Given the description of an element on the screen output the (x, y) to click on. 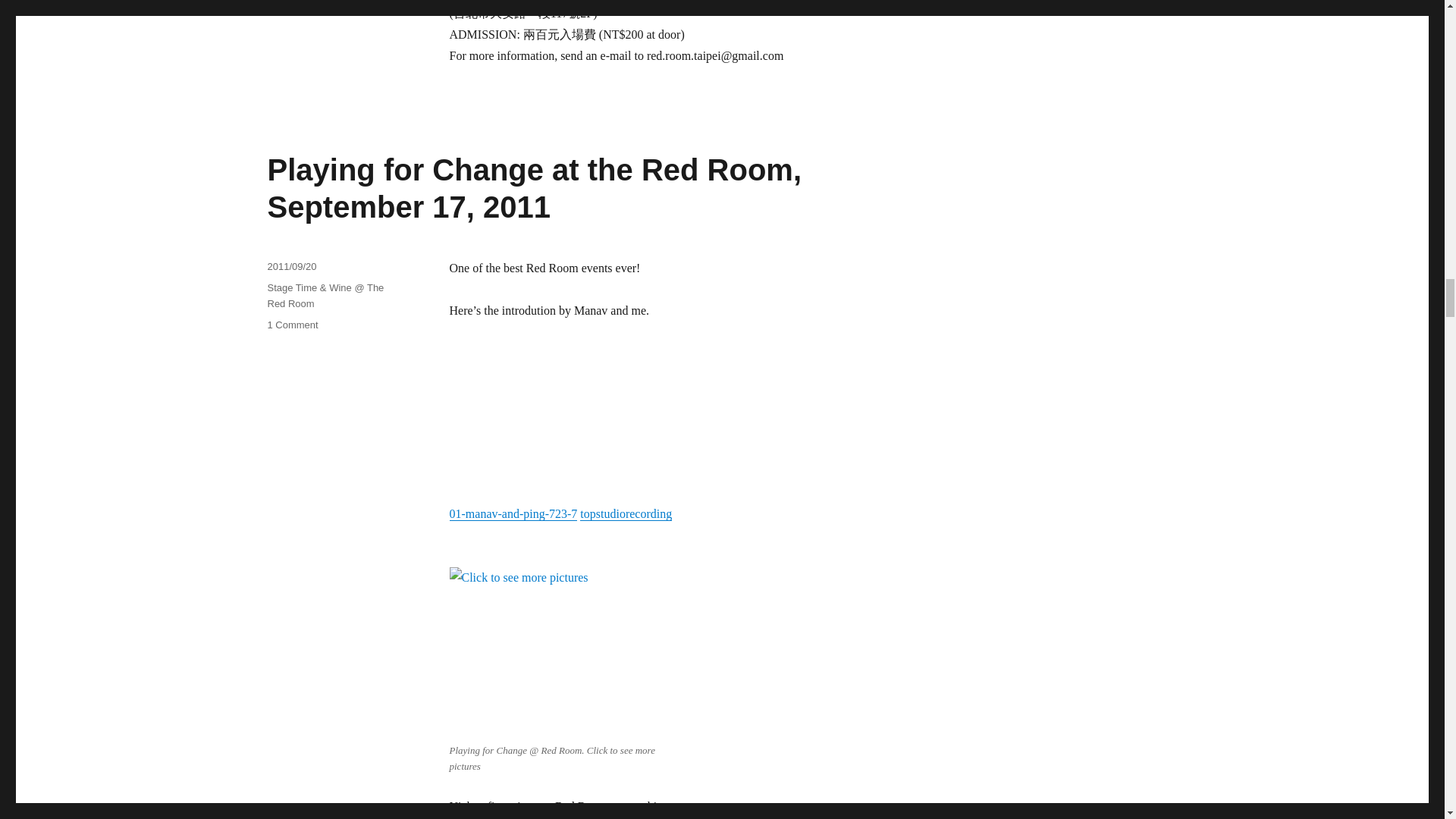
Click to see more pictures (562, 652)
topstudiorecording (625, 513)
Playing for Change at the Red Room, September 17, 2011 (534, 188)
01-manav-and-ping-723-7 (512, 513)
